Given the description of an element on the screen output the (x, y) to click on. 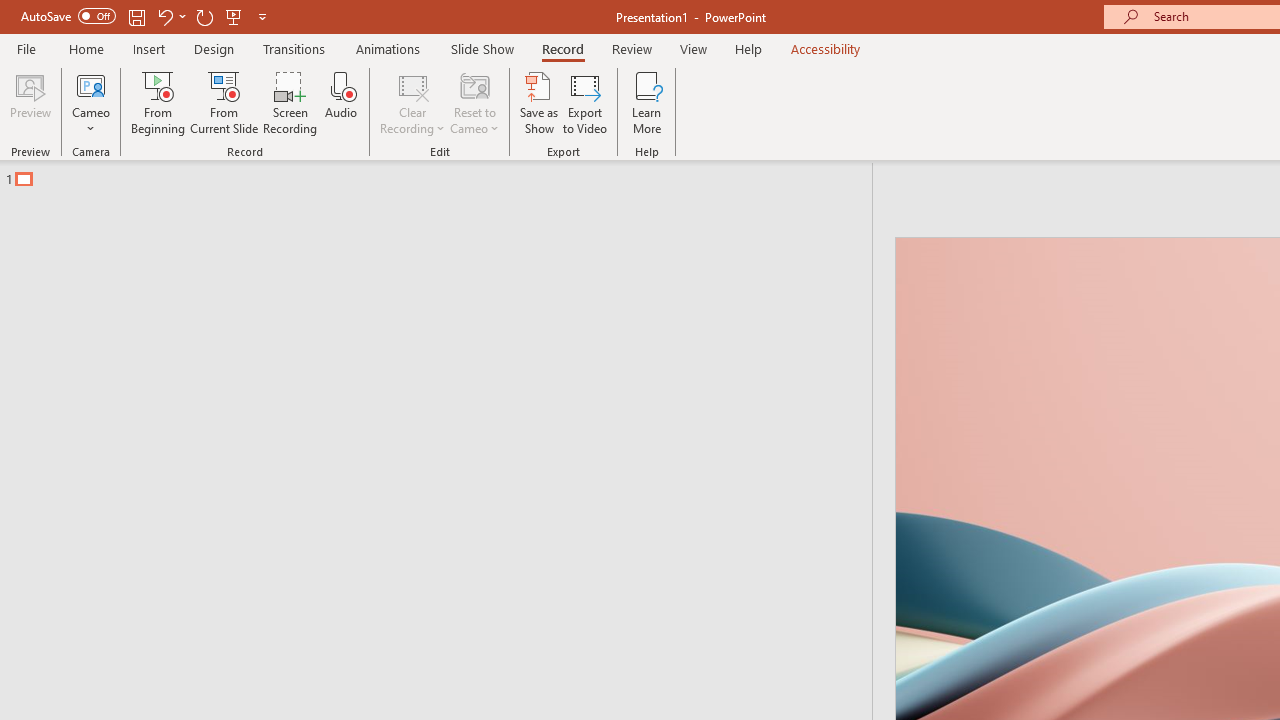
Save as Show (539, 102)
Screen Recording (290, 102)
Reset to Cameo (474, 102)
Outline (445, 174)
From Beginning... (158, 102)
